Given the description of an element on the screen output the (x, y) to click on. 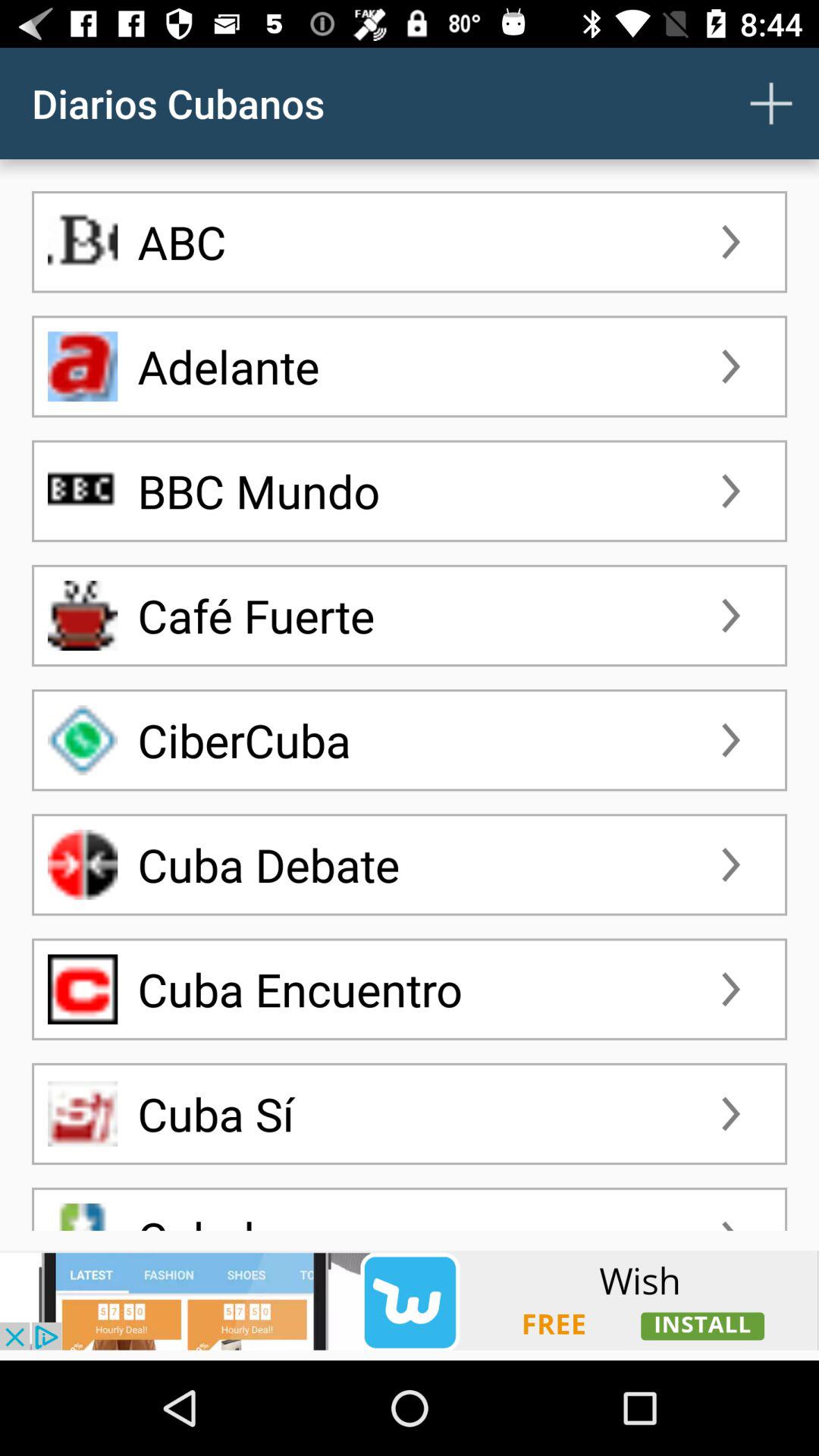
add a contact (771, 103)
